Given the description of an element on the screen output the (x, y) to click on. 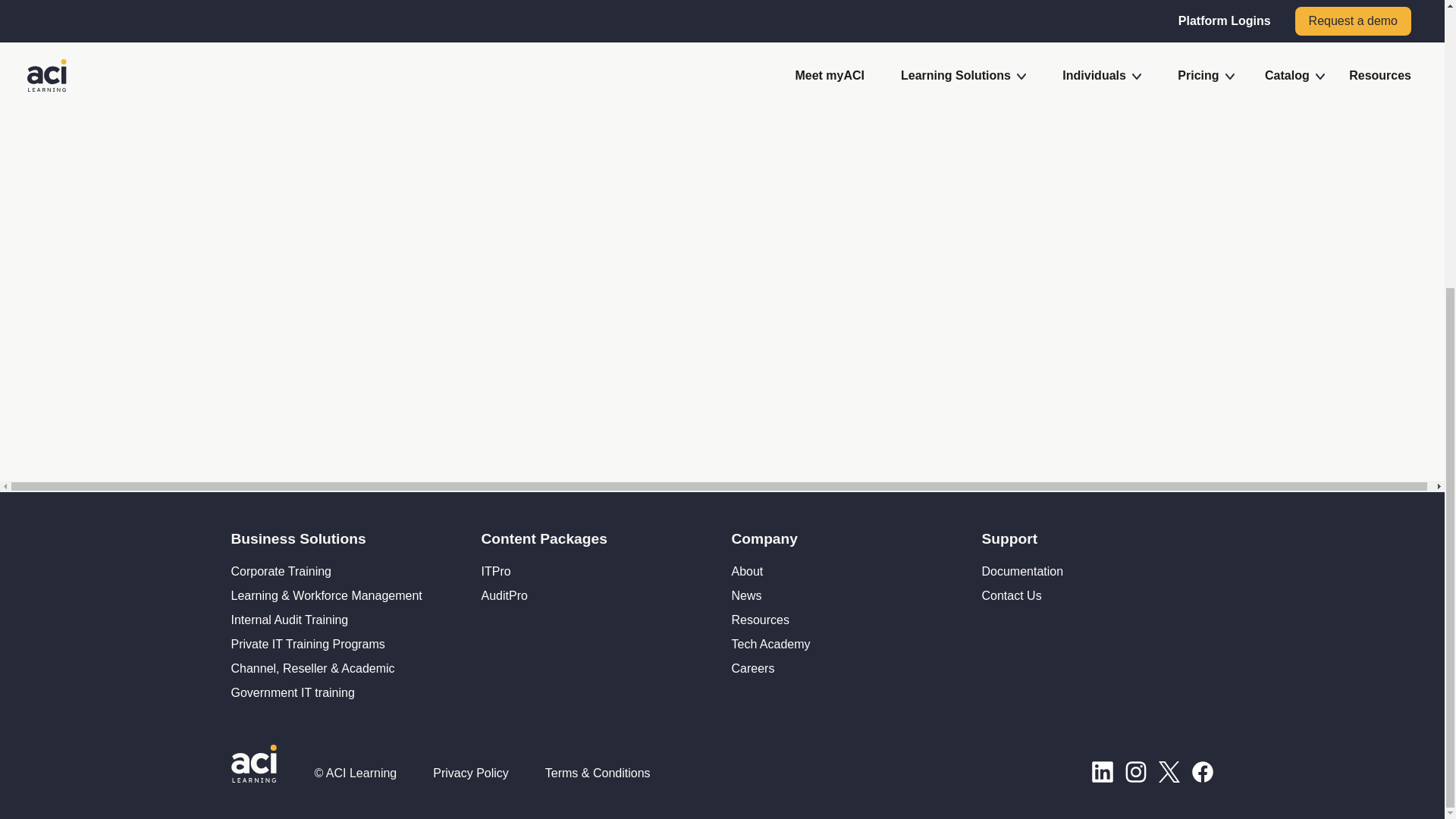
Purchase a plan (1042, 66)
Tech Academy (769, 644)
Internal Audit Training (288, 619)
Catalog (26, 37)
AuditPro (503, 594)
Connect with us (1136, 66)
Show transcript (553, 213)
ITPro (495, 571)
Government IT training (291, 692)
Documentation (1021, 571)
